Given the description of an element on the screen output the (x, y) to click on. 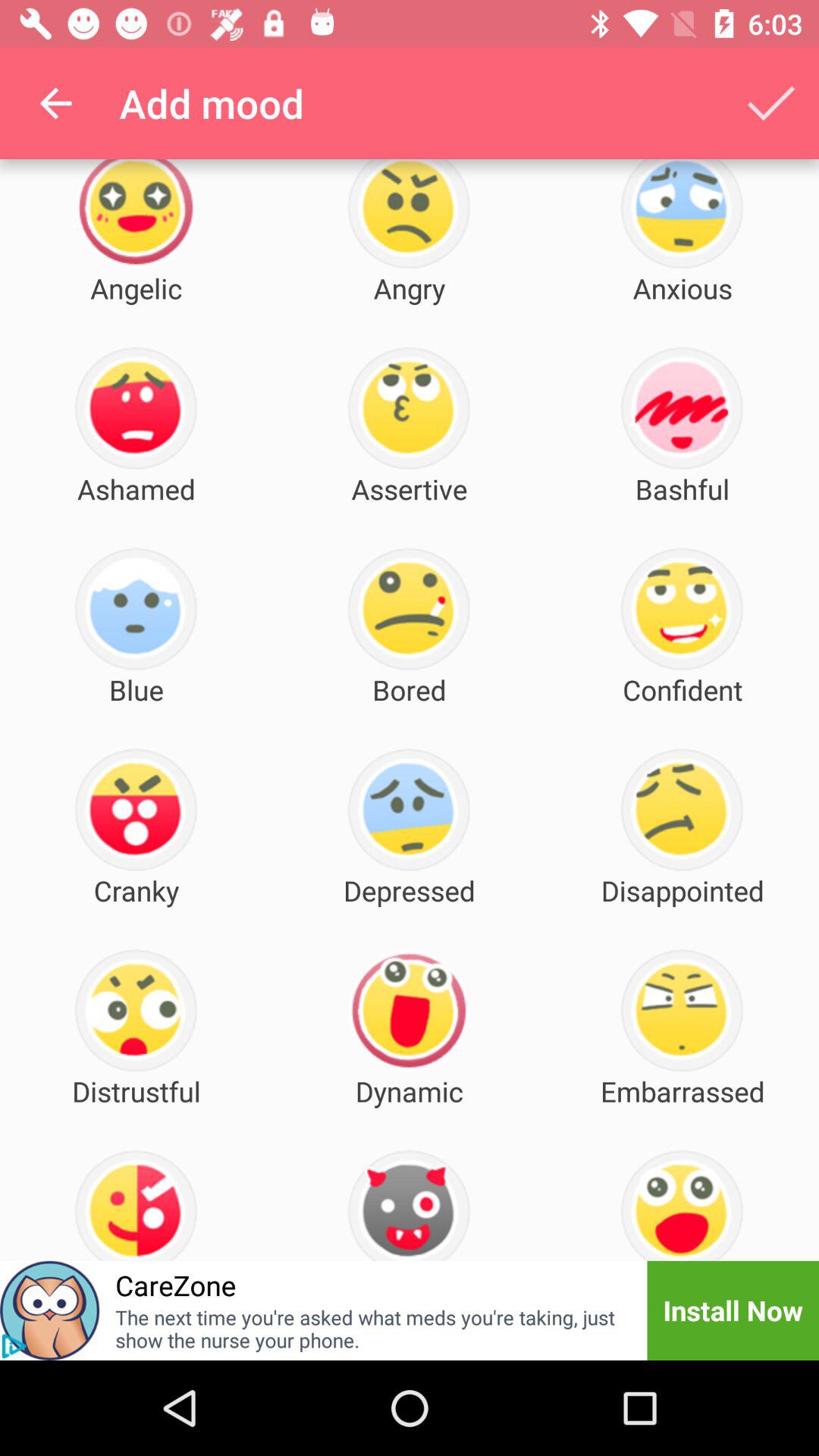
share the article (49, 1310)
